Given the description of an element on the screen output the (x, y) to click on. 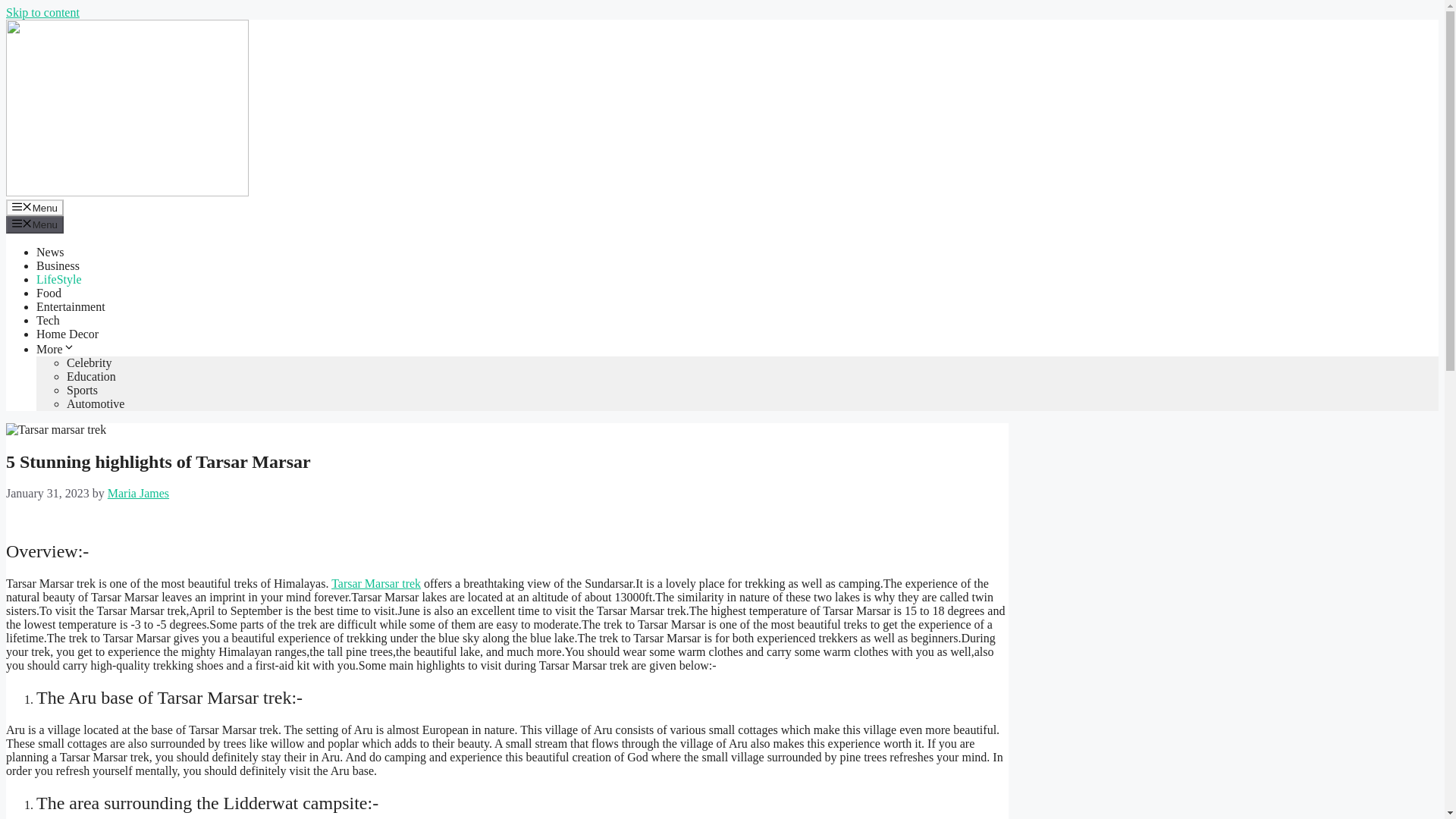
View all posts by Maria James (137, 492)
Menu (34, 207)
More (55, 349)
Sports (81, 390)
Celebrity (89, 362)
Automotive (94, 403)
Education (91, 376)
Menu (34, 224)
Entertainment (70, 306)
Maria James (137, 492)
